Given the description of an element on the screen output the (x, y) to click on. 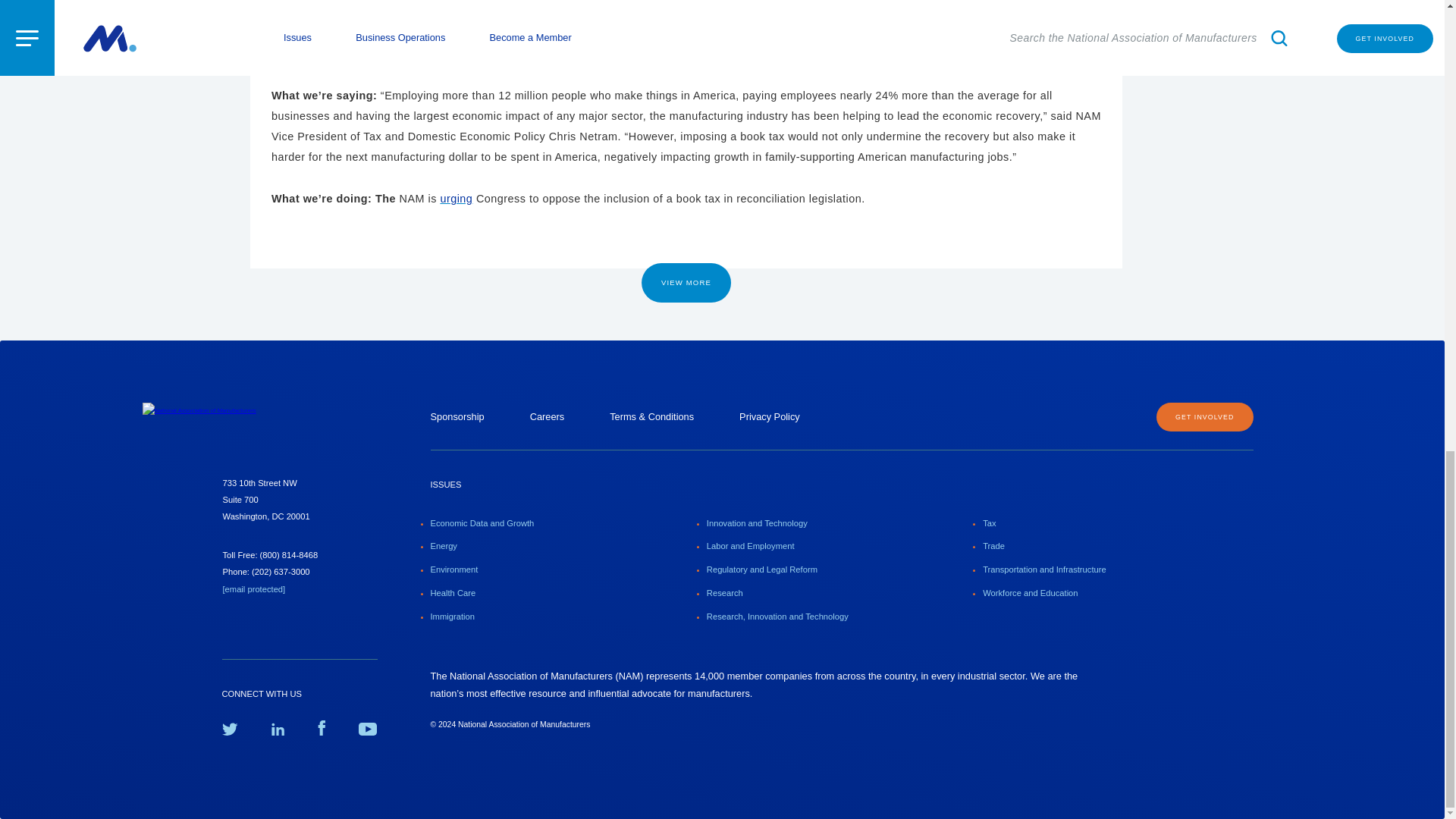
VIEW MORE (686, 282)
urging (455, 198)
Careers (546, 416)
GET INVOLVED (1204, 417)
Privacy Policy (769, 416)
data (372, 23)
Sponsorship (457, 416)
